Given the description of an element on the screen output the (x, y) to click on. 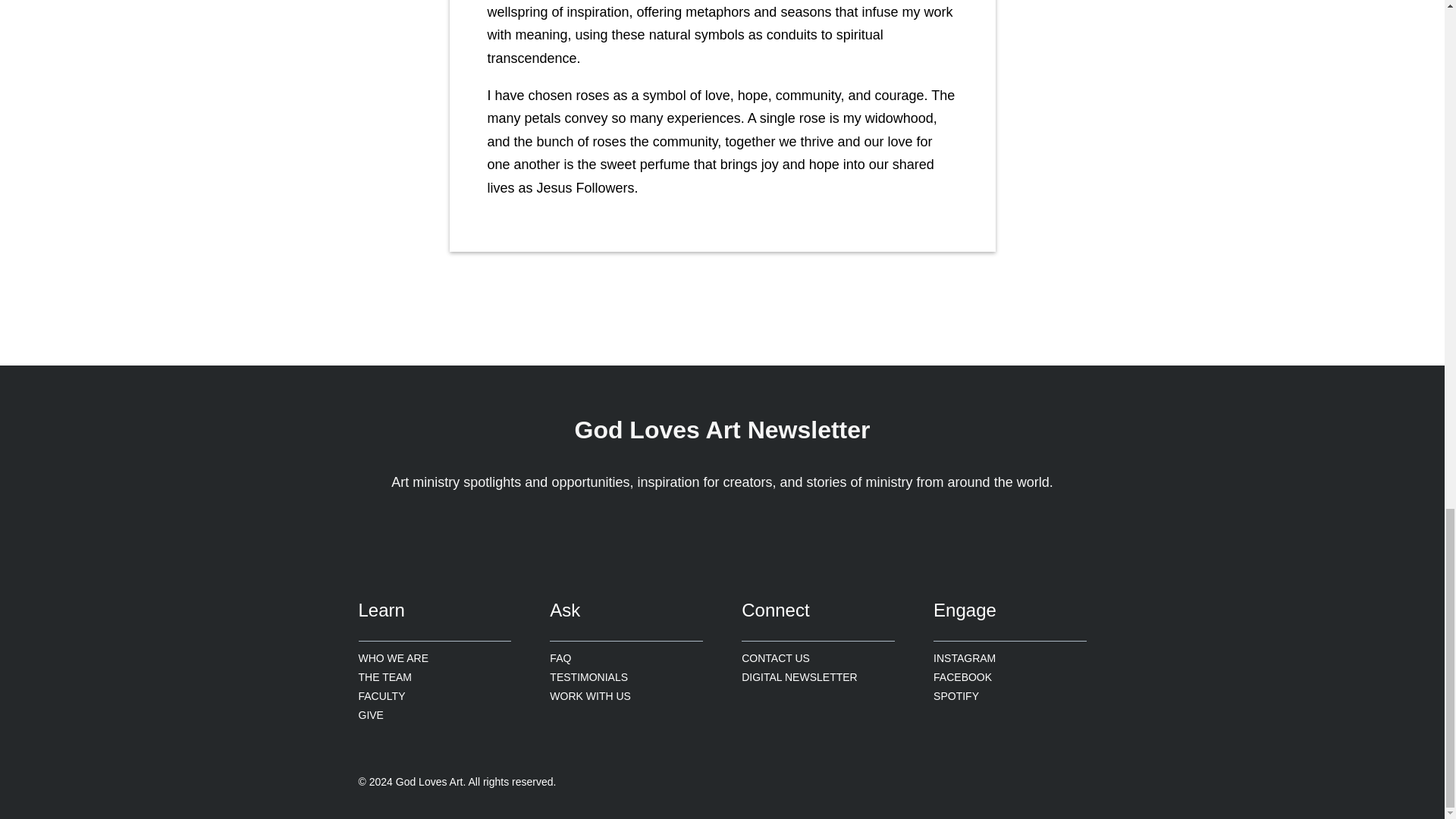
GIVE (370, 714)
FAQ (560, 658)
WORK WITH US (590, 696)
FACULTY (381, 696)
WHO WE ARE (393, 658)
FACEBOOK (962, 677)
INSTAGRAM (964, 658)
SPOTIFY (955, 696)
CONTACT US (775, 658)
THE TEAM (385, 677)
